Given the description of an element on the screen output the (x, y) to click on. 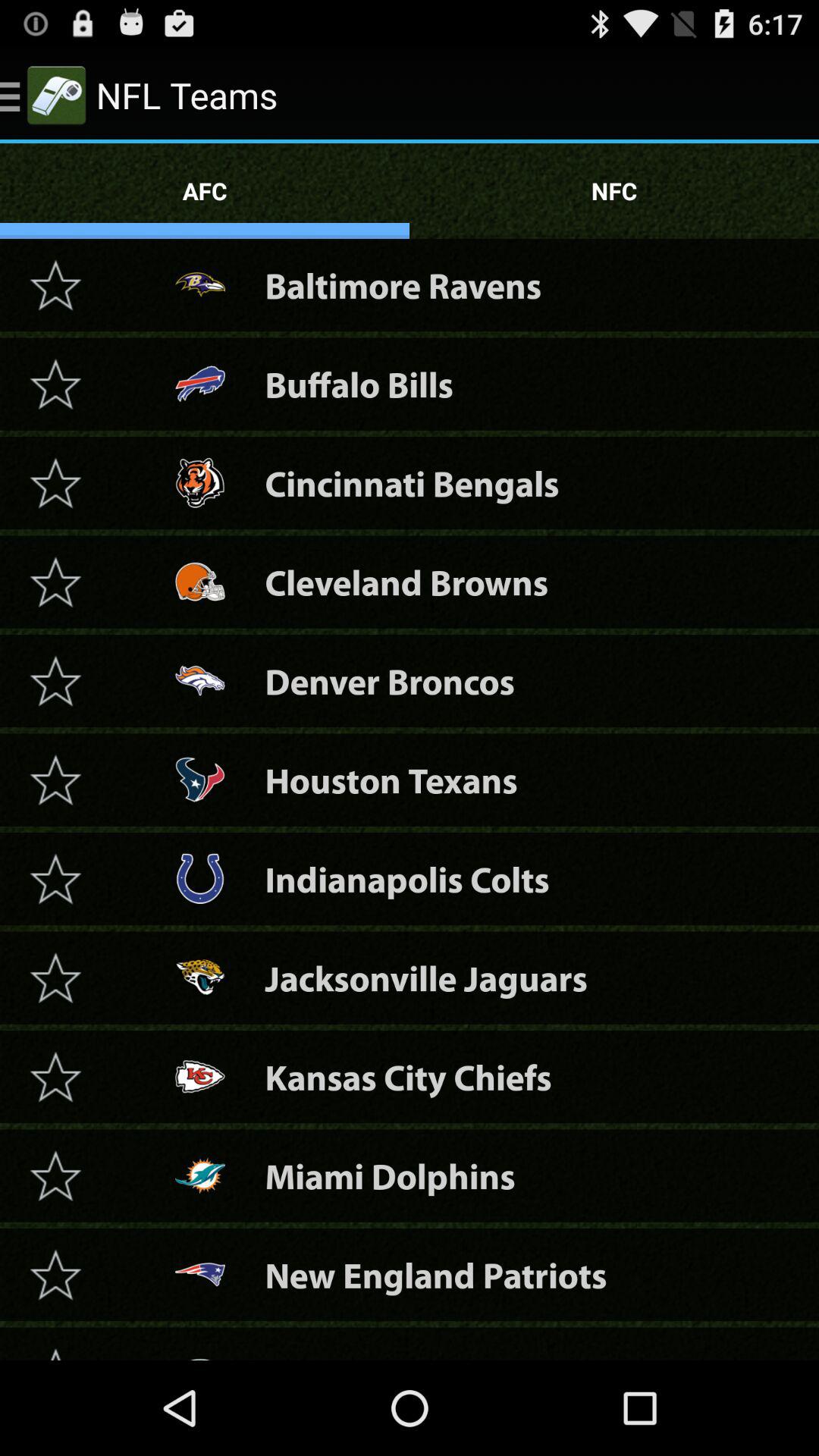
add team to favorites (55, 977)
